Given the description of an element on the screen output the (x, y) to click on. 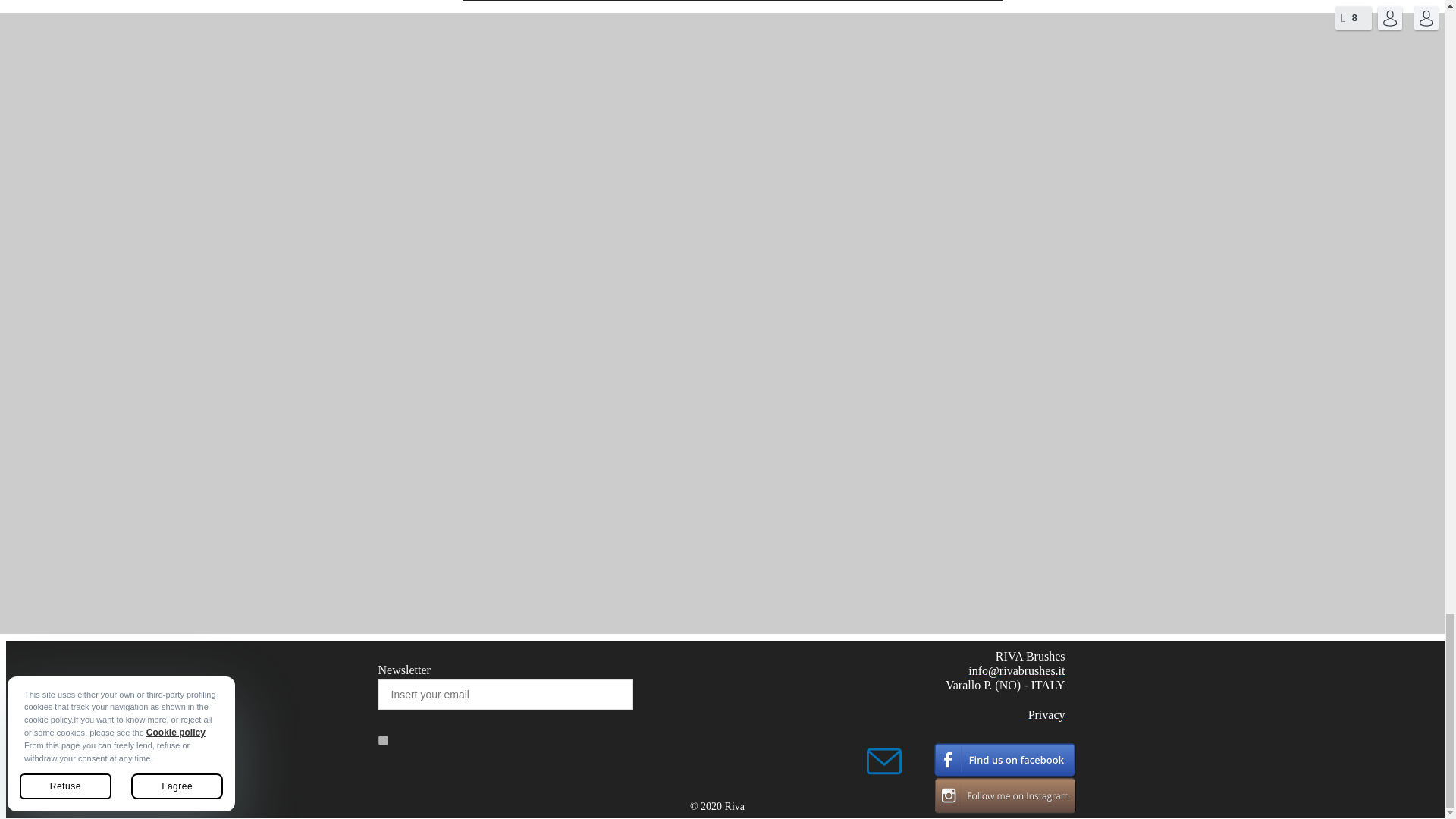
on (382, 740)
Privacy (1046, 714)
